Given the description of an element on the screen output the (x, y) to click on. 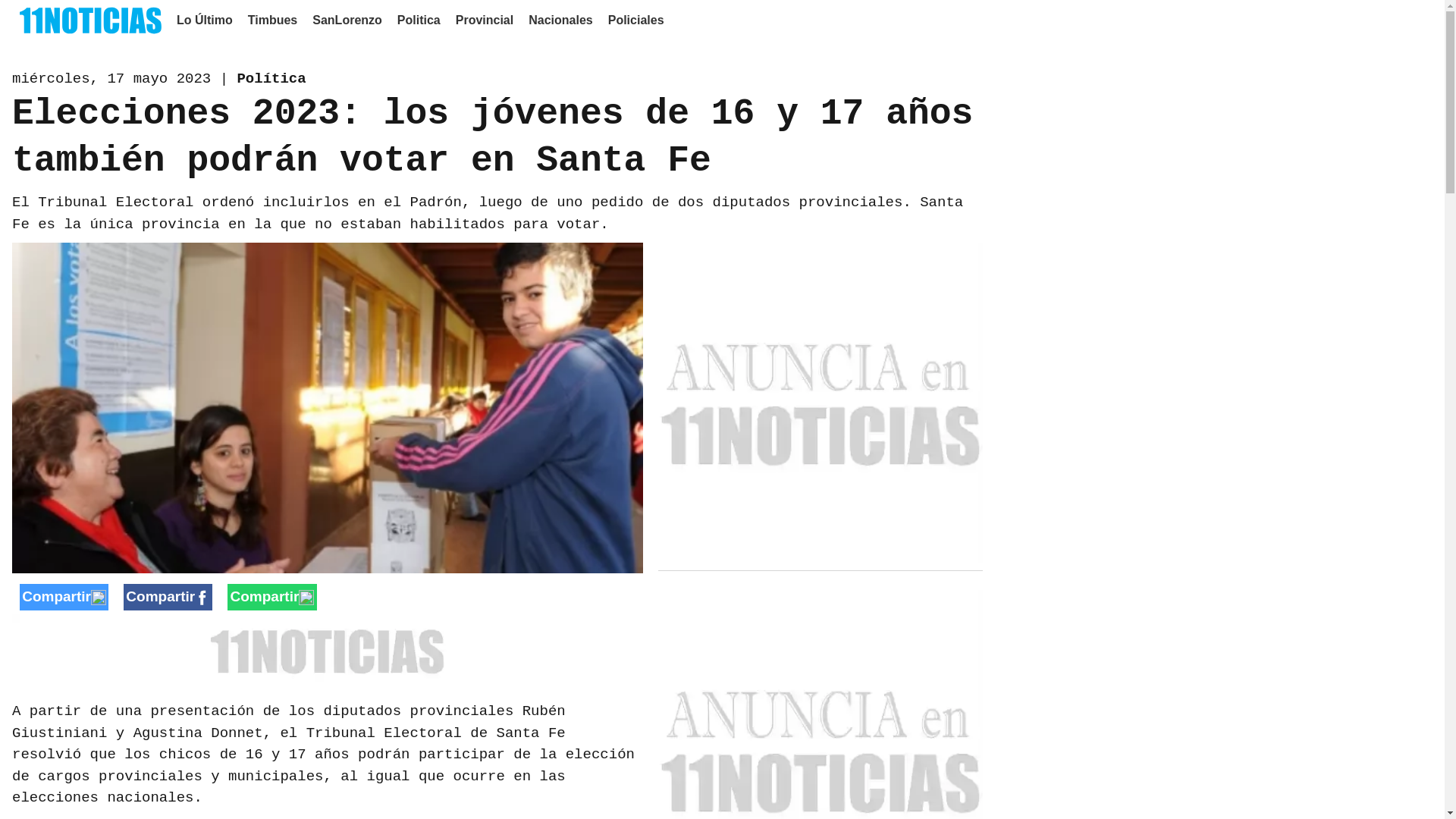
Compartir Element type: text (271, 596)
Compartir Element type: text (167, 596)
Nacionales Element type: text (560, 20)
Timbues Element type: text (272, 20)
SanLorenzo Element type: text (347, 20)
Compartir Element type: text (63, 596)
Policiales Element type: text (636, 20)
Provincial Element type: text (484, 20)
Politica Element type: text (418, 20)
